Given the description of an element on the screen output the (x, y) to click on. 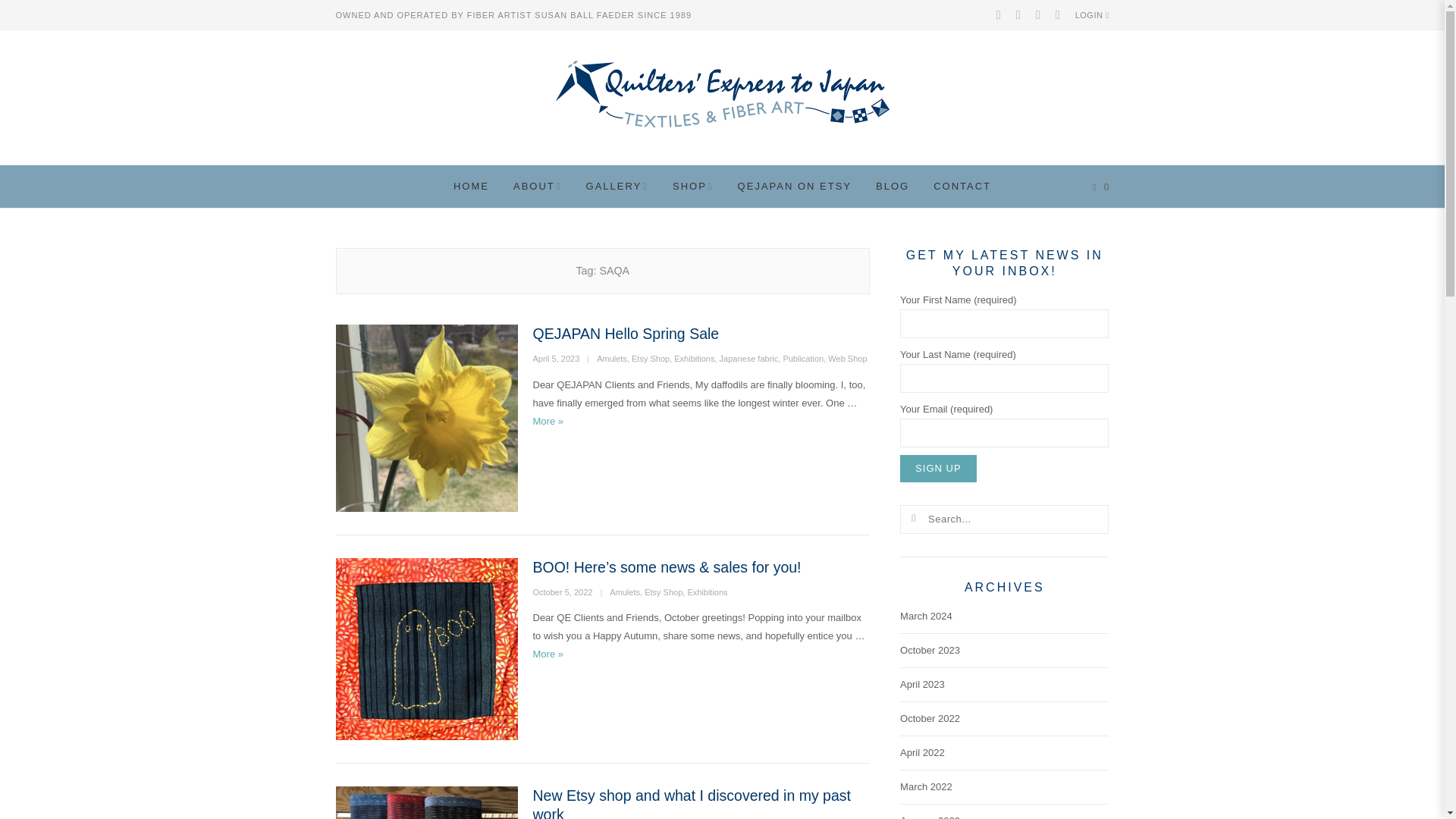
QEJAPAN Hello Spring Sale (625, 333)
Your cart is empty (1098, 186)
CONTACT (962, 186)
ABOUT (536, 186)
HOME (470, 186)
BLOG (892, 186)
GALLERY (617, 186)
SHOP (693, 186)
0 (1098, 186)
Go (913, 518)
QEJAPAN ON ETSY (794, 186)
Sign Up (937, 468)
LOGIN (1092, 15)
